Given the description of an element on the screen output the (x, y) to click on. 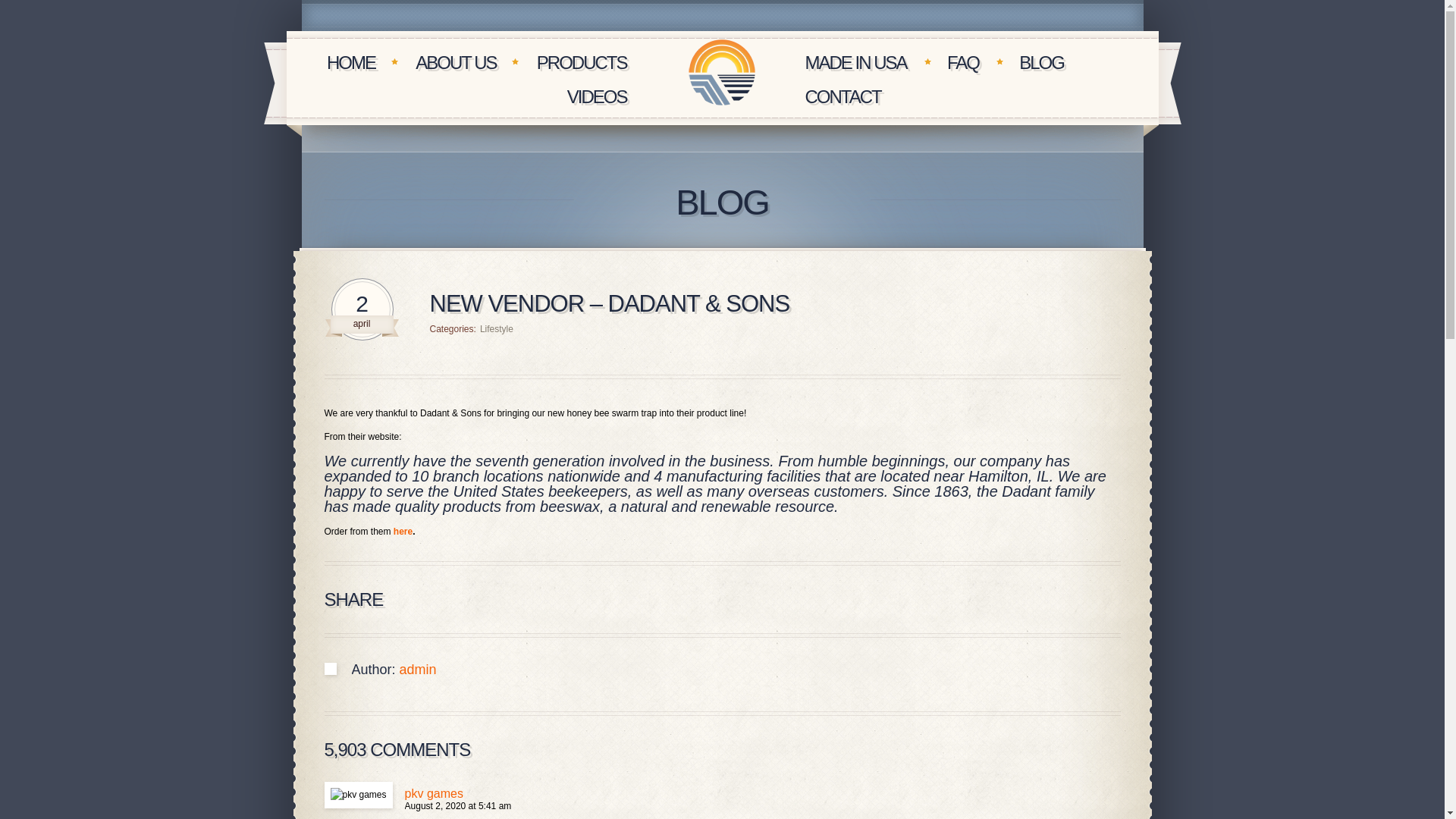
CONTACT (842, 97)
PRODUCTS (582, 62)
admin (417, 669)
MADE IN USA (856, 62)
Posts by admin (417, 669)
FAQ (962, 62)
HOME (350, 62)
ABOUT US (455, 62)
here (402, 531)
Lifestyle (496, 328)
pkv games (433, 793)
VIDEOS (597, 97)
BLOG (1041, 62)
